Given the description of an element on the screen output the (x, y) to click on. 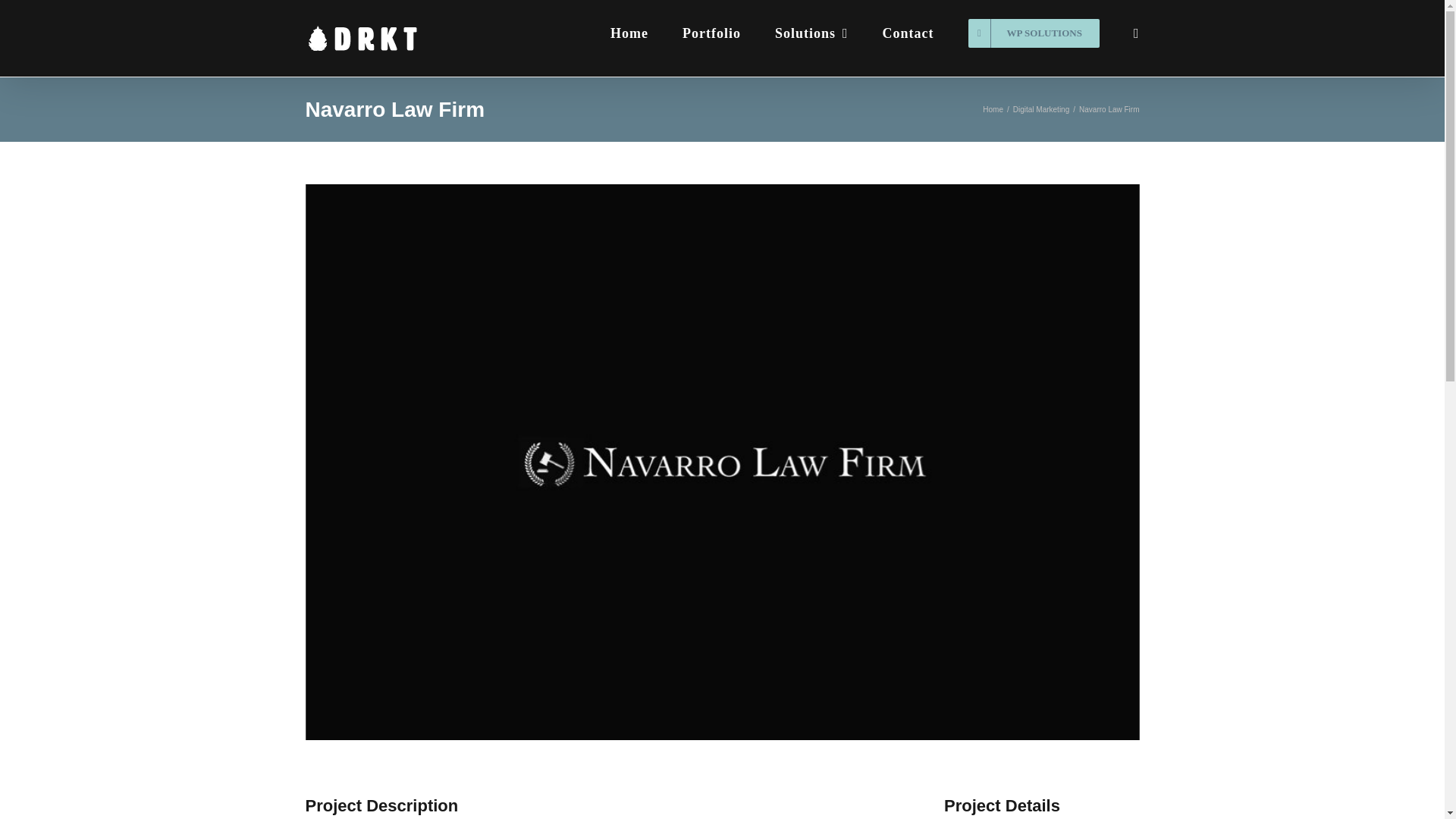
Digital Marketing (1040, 109)
WP SOLUTIONS (1033, 31)
Home (992, 109)
Solutions (811, 31)
Portfolio (711, 31)
